Given the description of an element on the screen output the (x, y) to click on. 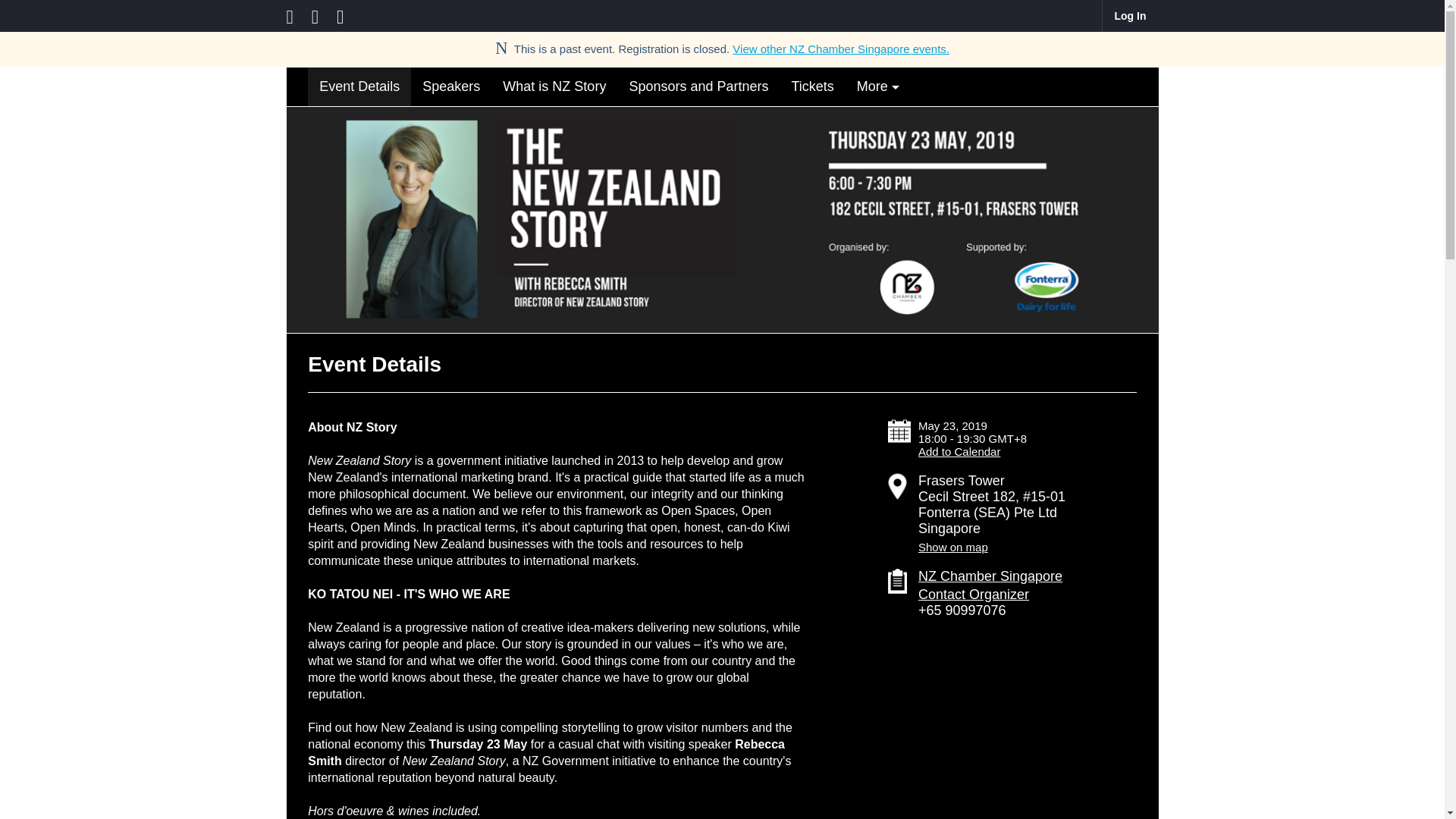
NZ Chamber Singapore (990, 575)
Tickets (811, 86)
Show on map (1018, 546)
Sign in (1128, 15)
More (878, 86)
View other NZ Chamber Singapore events. (840, 48)
Contact Organizer (973, 594)
Add to Calendar (959, 451)
Sponsors and Partners (697, 86)
Log In (1128, 15)
